Given the description of an element on the screen output the (x, y) to click on. 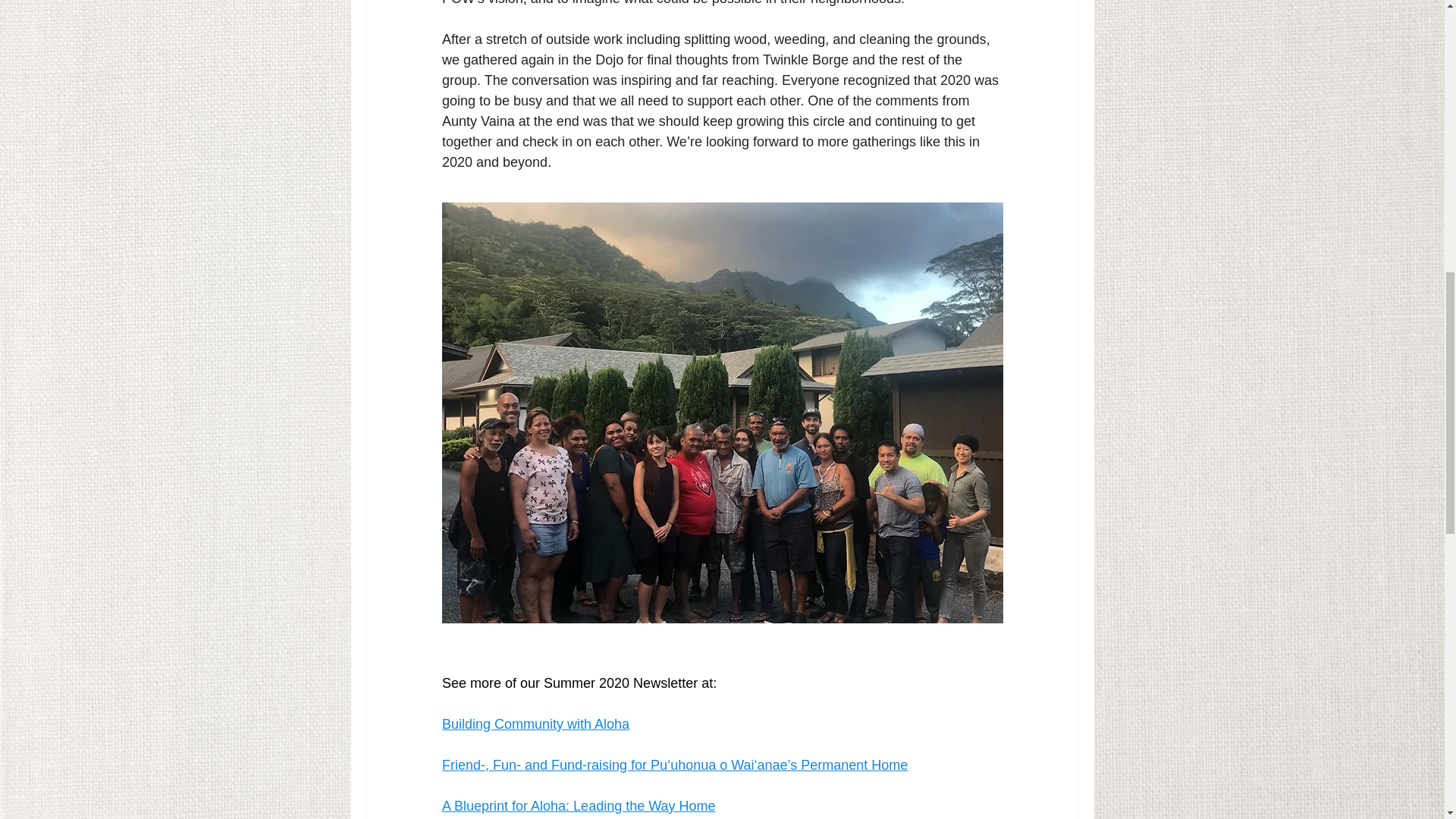
A Blueprint for Aloha: Leading the Way Home (577, 806)
Building Community with Aloha (534, 724)
